Given the description of an element on the screen output the (x, y) to click on. 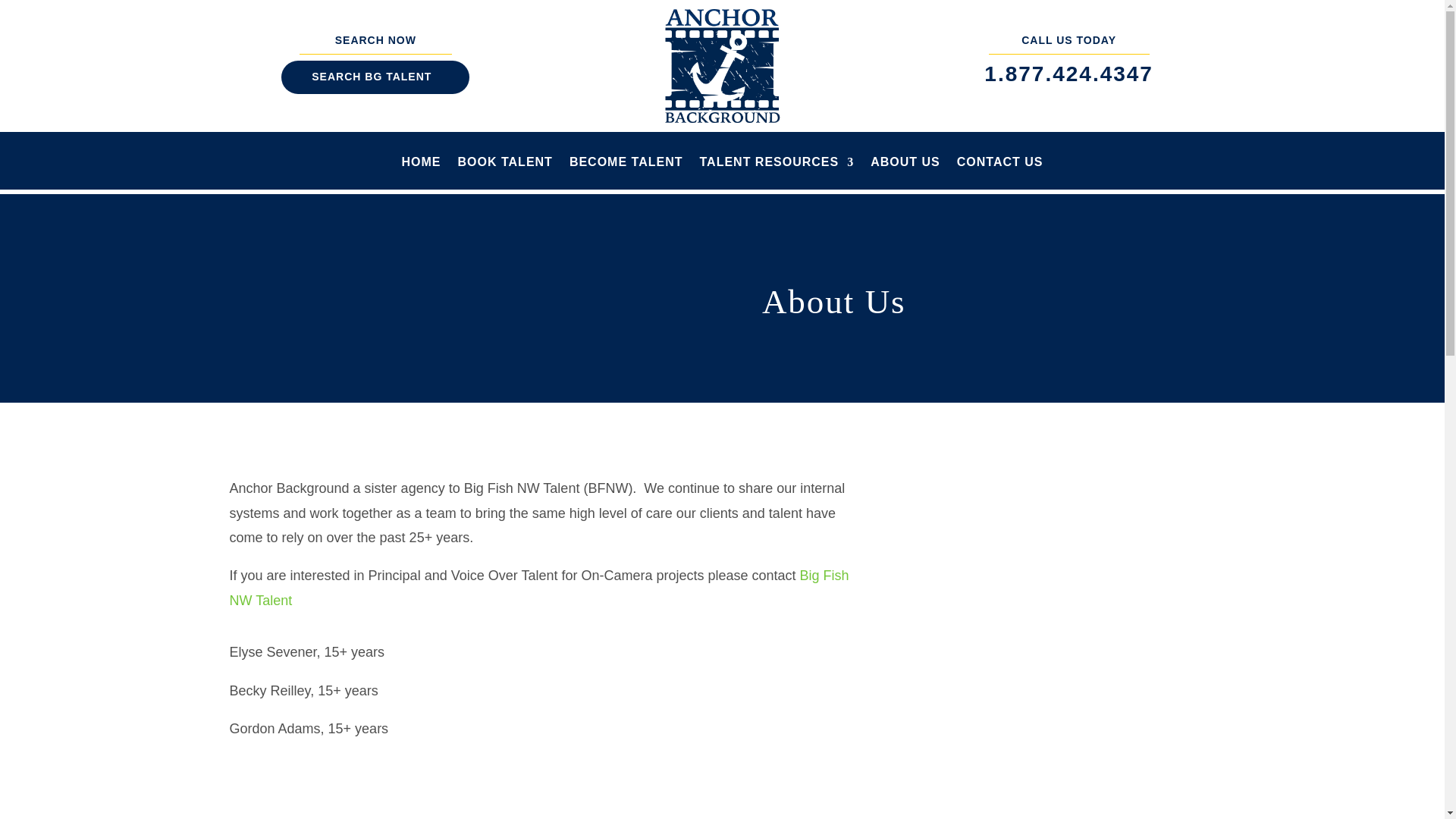
BOOK TALENT (505, 173)
ABOUT US (905, 173)
anchorbackgroundlogojpg (721, 65)
BECOME TALENT (625, 173)
Big Fish NW Talent (538, 587)
CONTACT US (999, 173)
TALENT RESOURCES (775, 173)
SEARCH BG TALENT (374, 77)
HOME (421, 173)
